Given the description of an element on the screen output the (x, y) to click on. 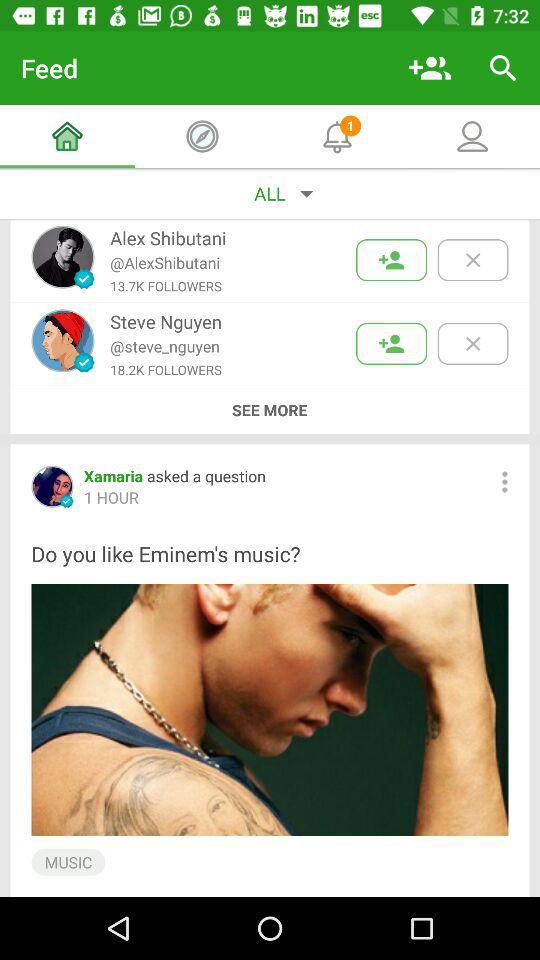
add user or send friend request (391, 343)
